Given the description of an element on the screen output the (x, y) to click on. 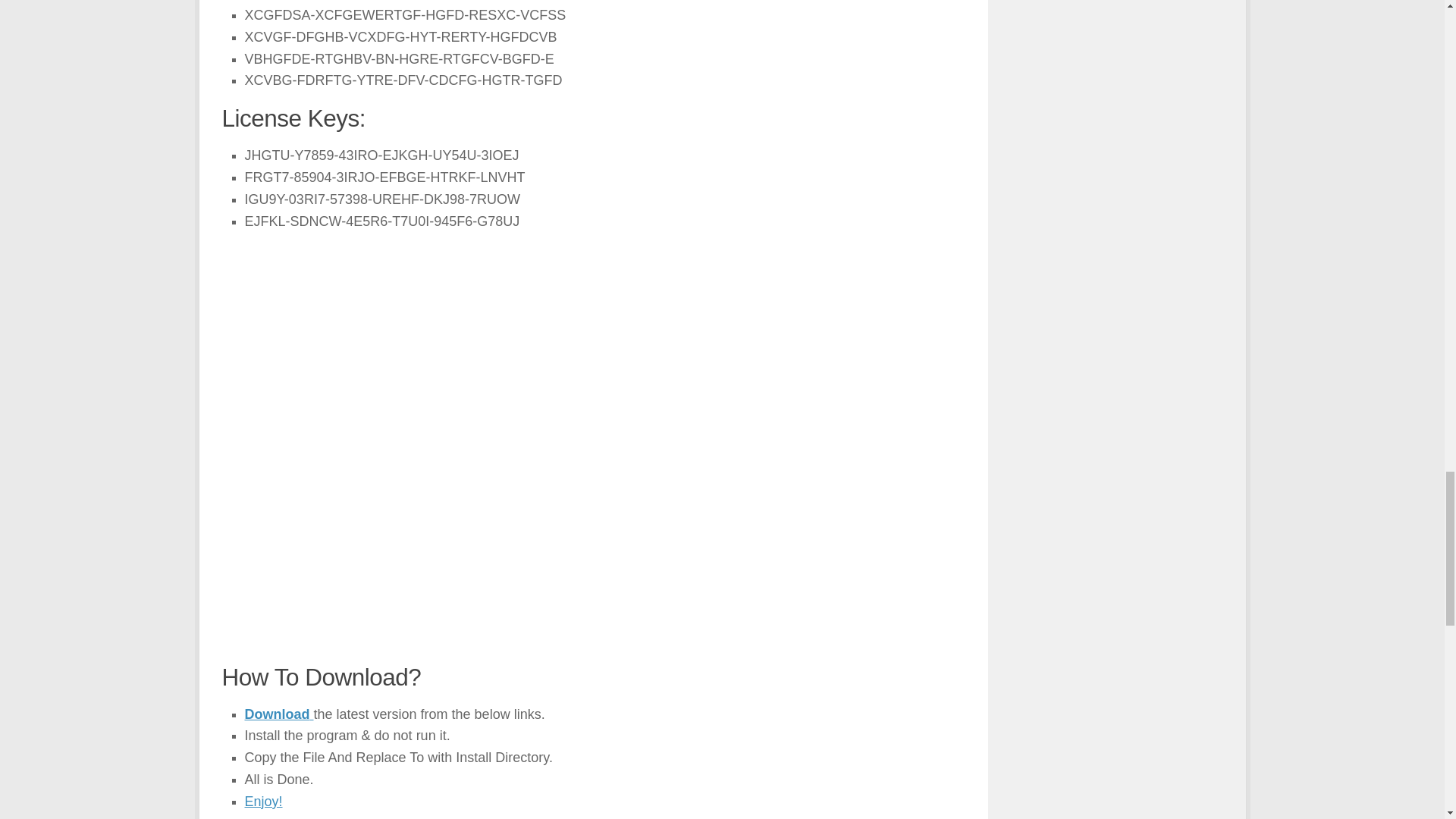
Download (278, 713)
